Given the description of an element on the screen output the (x, y) to click on. 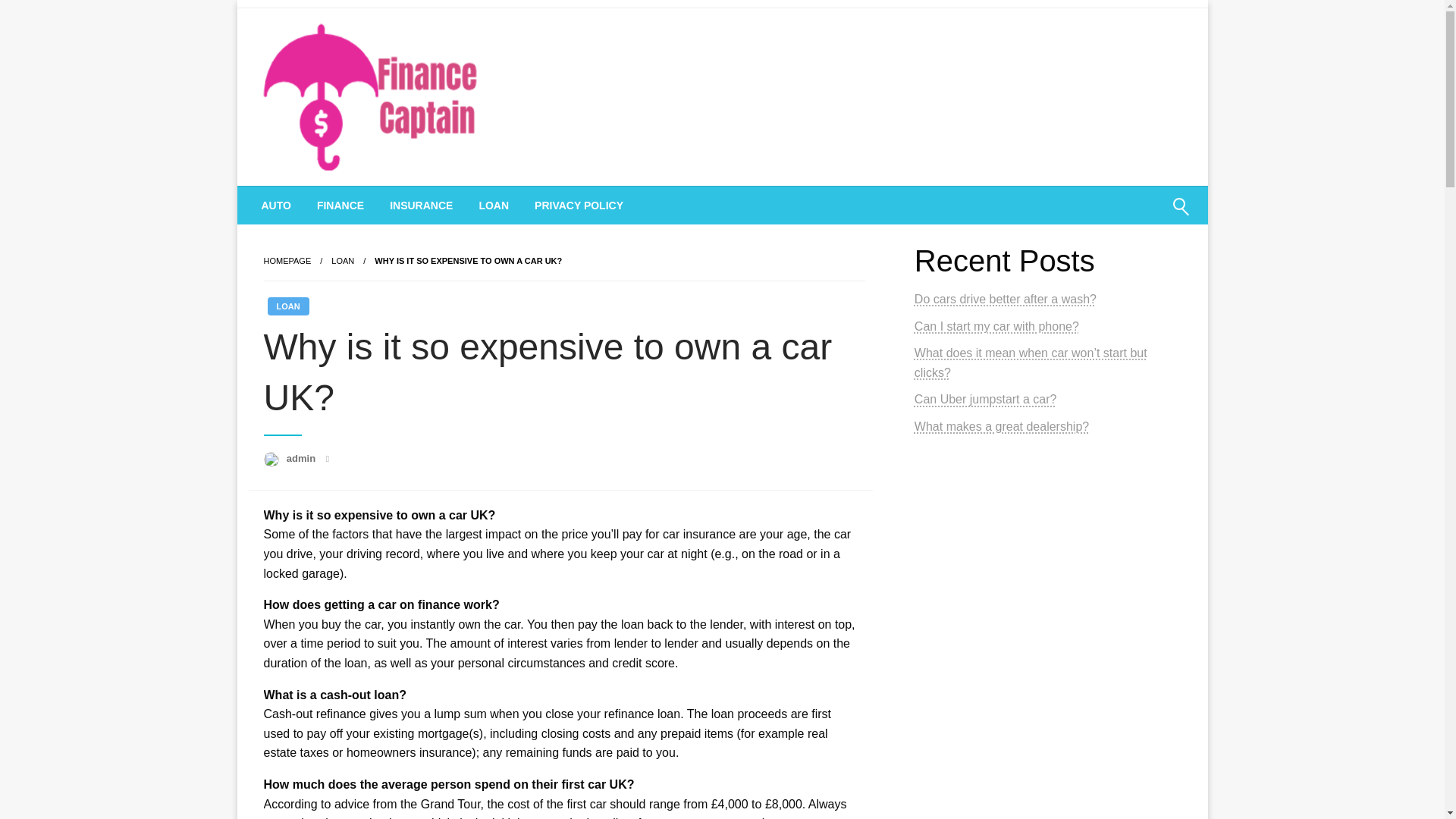
Search (1144, 216)
Do cars drive better after a wash? (1005, 298)
loan (342, 260)
INSURANCE (421, 205)
finance captain (358, 205)
FINANCE (340, 205)
Can Uber jumpstart a car? (985, 399)
Why is it so expensive to own a car UK? (468, 260)
HOMEPAGE (287, 260)
LOAN (342, 260)
